Given the description of an element on the screen output the (x, y) to click on. 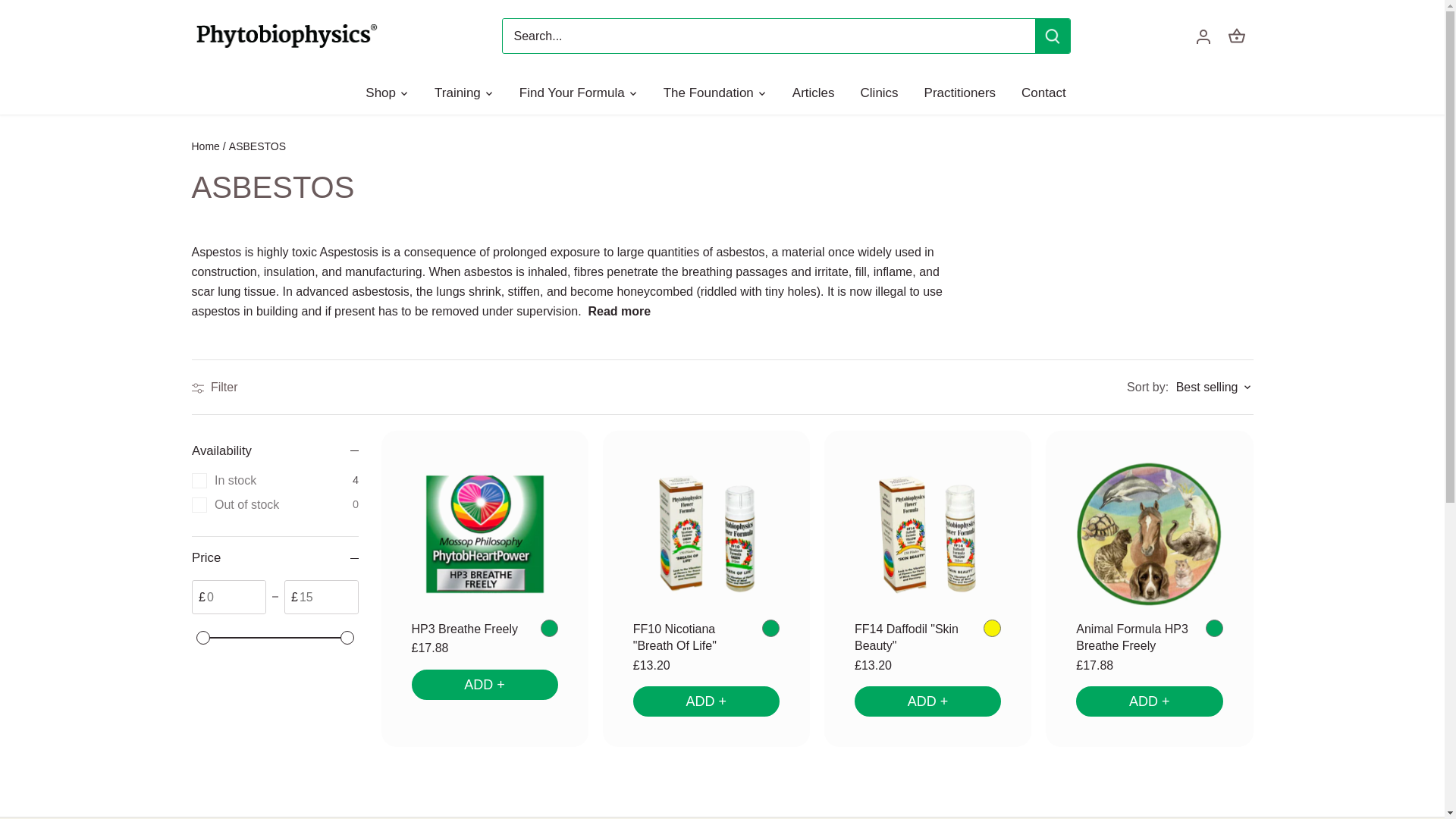
Find Your Formula (571, 93)
Training (457, 93)
Shop (387, 93)
